Given the description of an element on the screen output the (x, y) to click on. 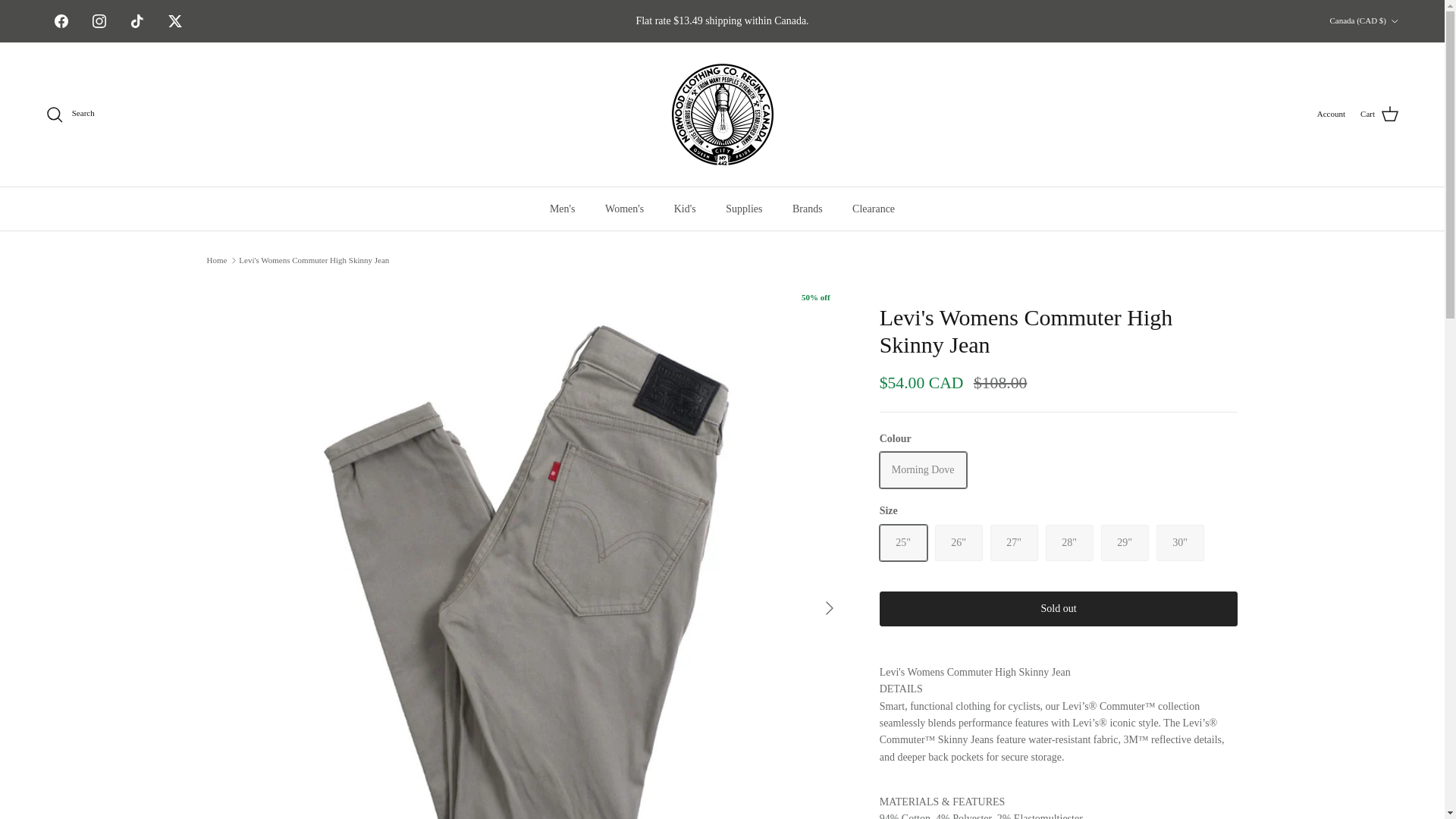
Sold out (1124, 542)
Sold out (1069, 542)
Account (1331, 114)
Norwood on Twitter (175, 20)
Facebook (61, 20)
Search (69, 114)
Norwood on Facebook (61, 20)
Norwood on Instagram (99, 20)
Sold out (1014, 542)
Sold out (922, 470)
